Given the description of an element on the screen output the (x, y) to click on. 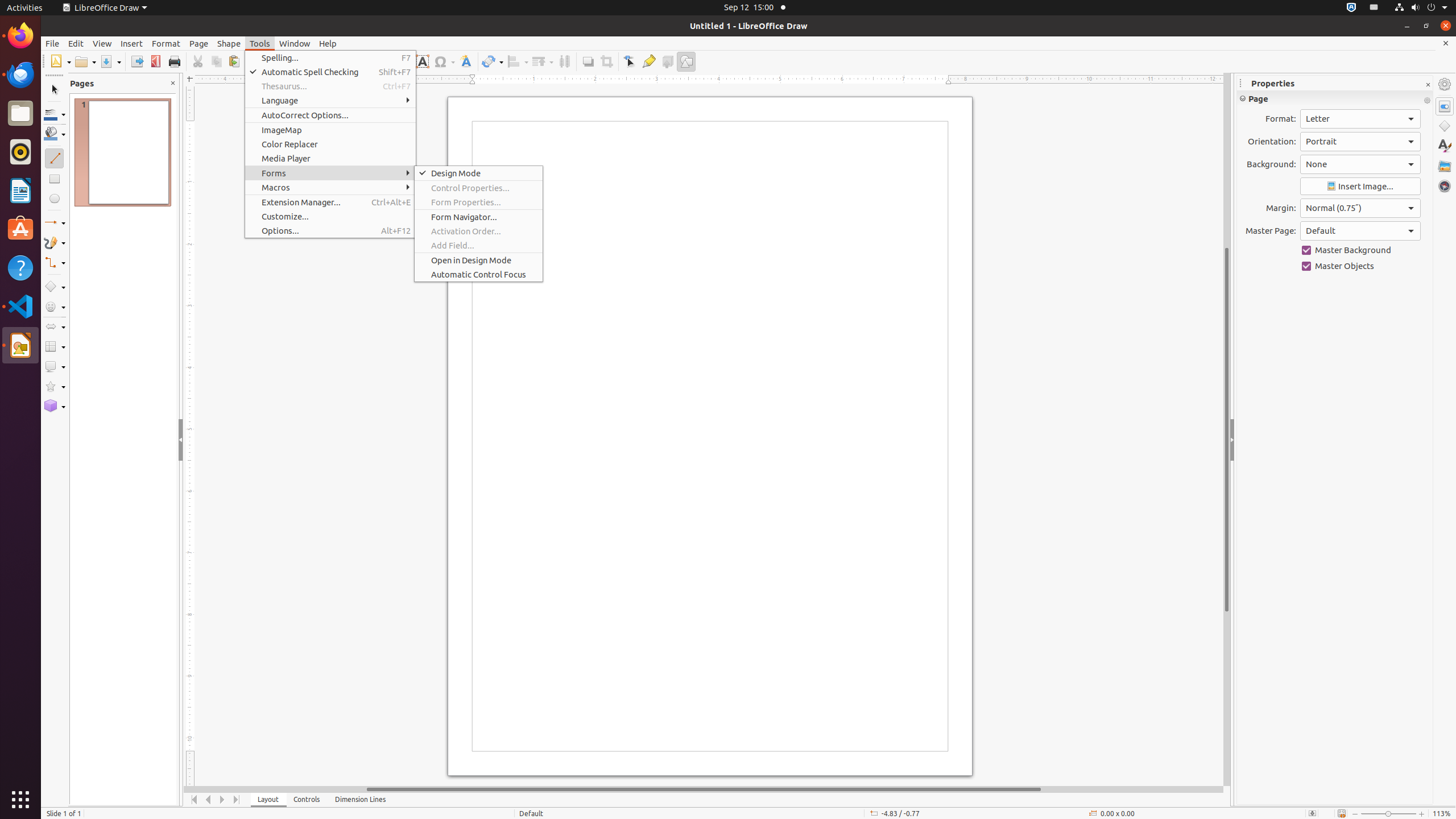
View Element type: menu (102, 43)
Line Color Element type: push-button (54, 113)
Layout Element type: page-tab (268, 799)
LibreOffice Draw Element type: push-button (20, 344)
